Given the description of an element on the screen output the (x, y) to click on. 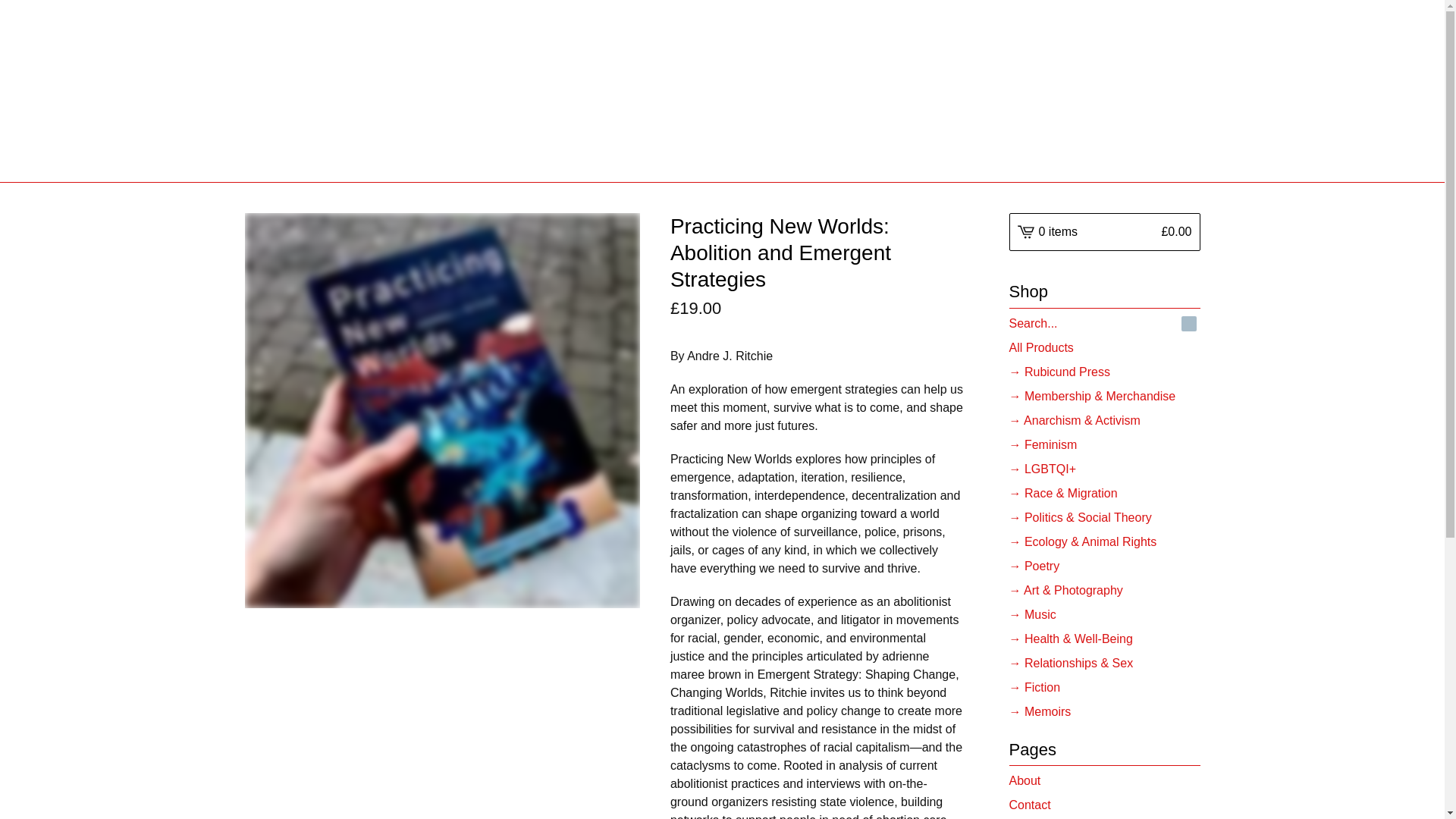
About (1104, 781)
View Cart (1104, 231)
All Products (1104, 347)
Rubicund - Falmouth (721, 90)
Contact (1104, 805)
